Given the description of an element on the screen output the (x, y) to click on. 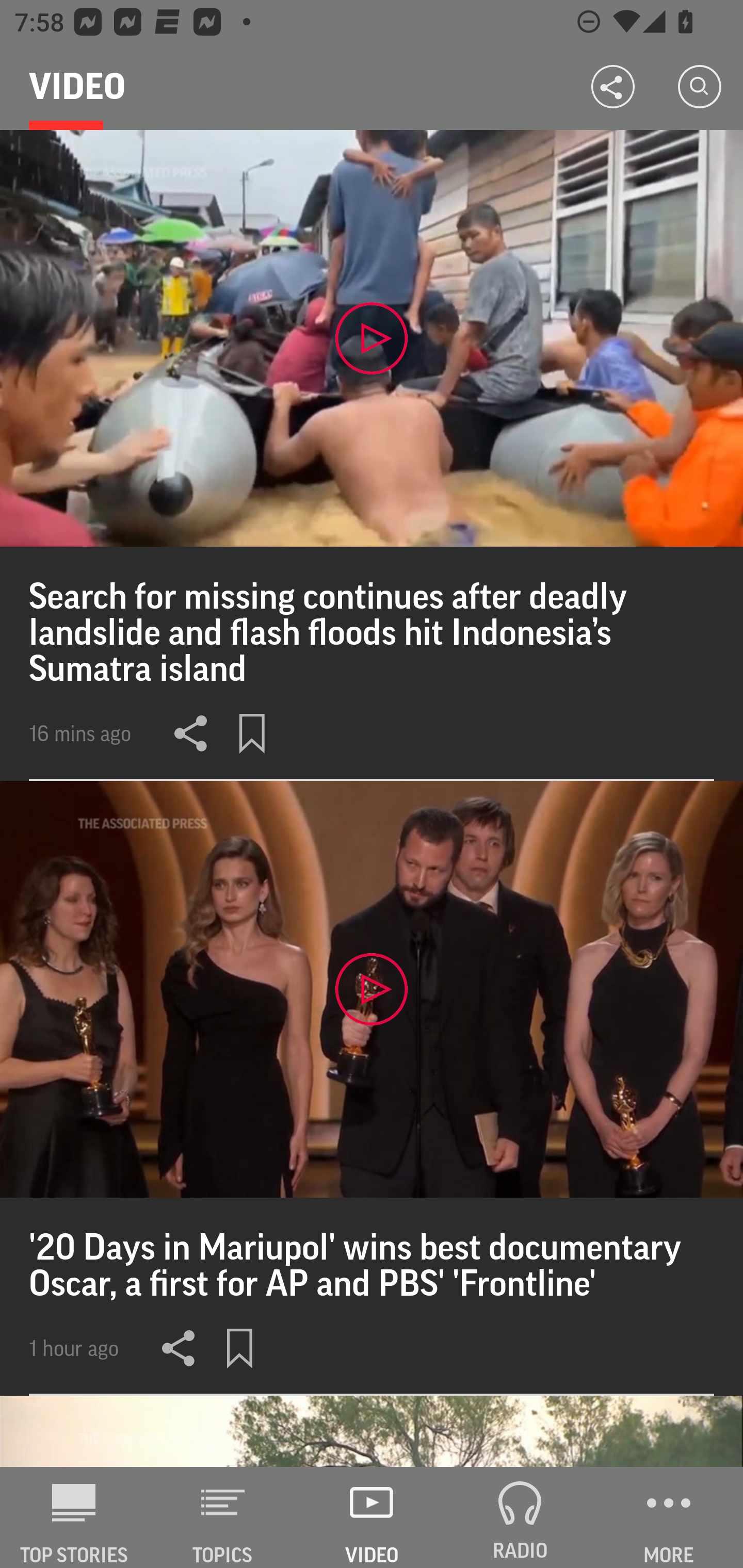
AP News TOP STORIES (74, 1517)
TOPICS (222, 1517)
VIDEO (371, 1517)
RADIO (519, 1517)
MORE (668, 1517)
